Given the description of an element on the screen output the (x, y) to click on. 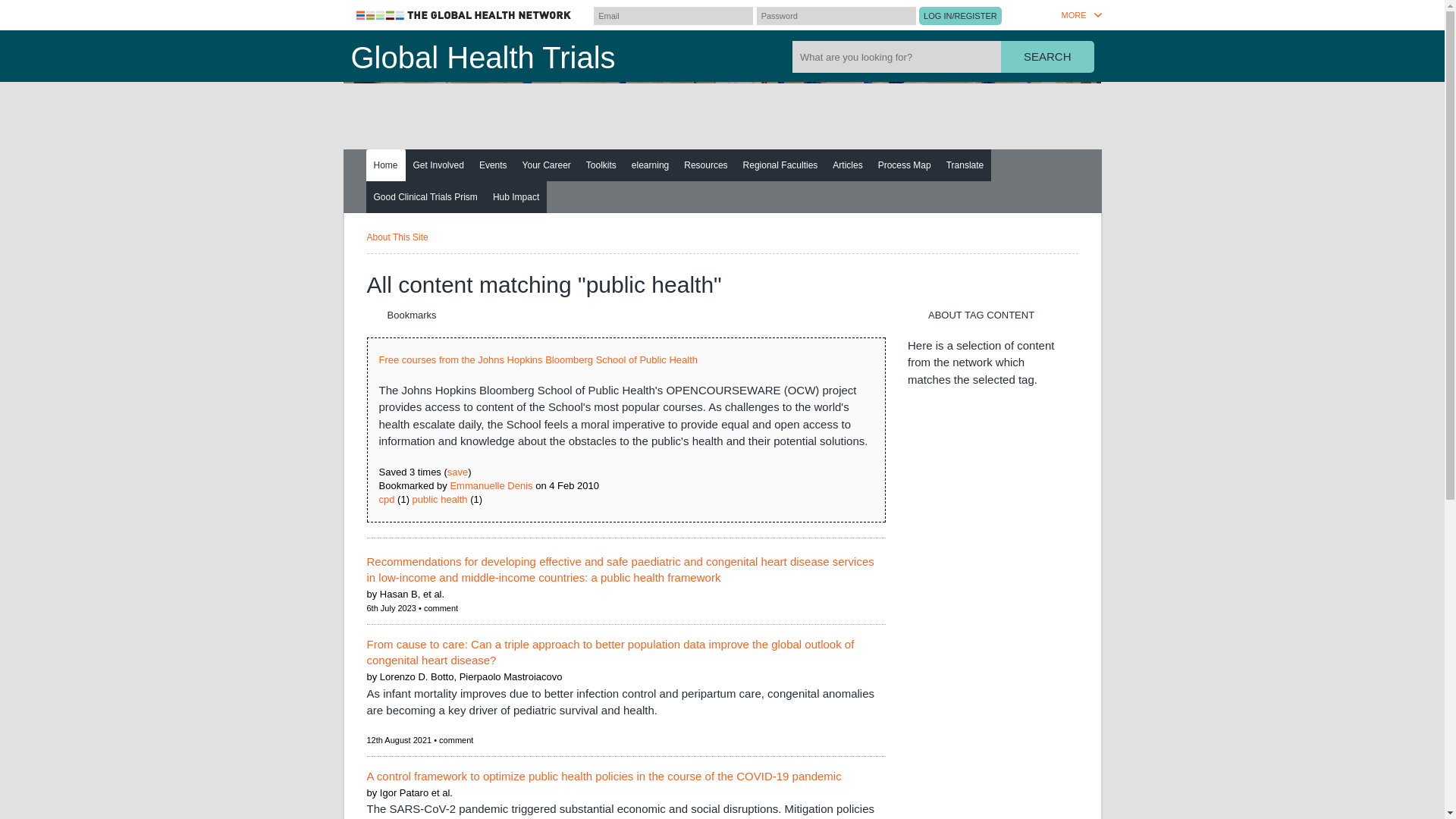
The Global Health Network (464, 15)
